Given the description of an element on the screen output the (x, y) to click on. 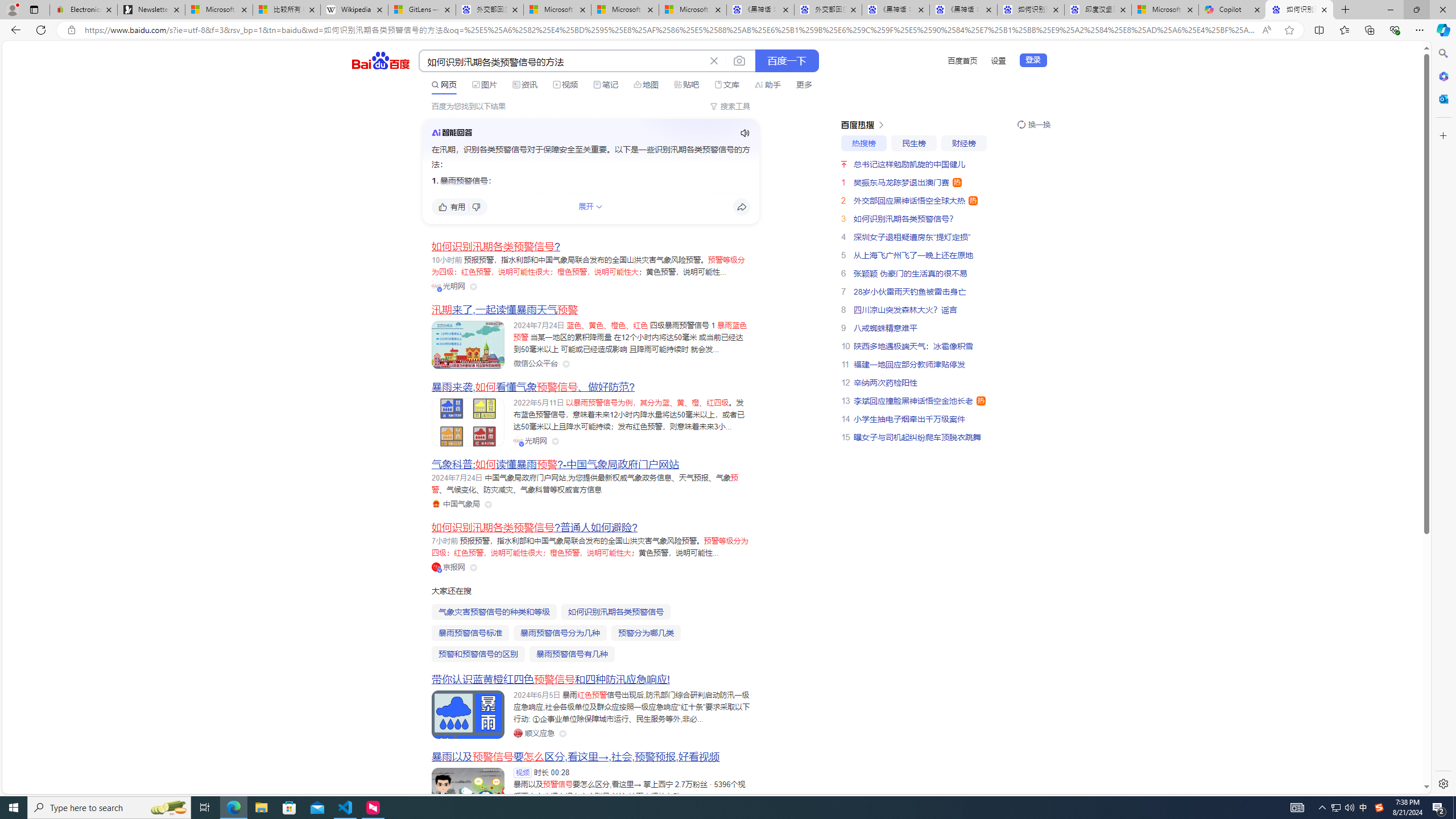
Copilot (1232, 9)
